Given the description of an element on the screen output the (x, y) to click on. 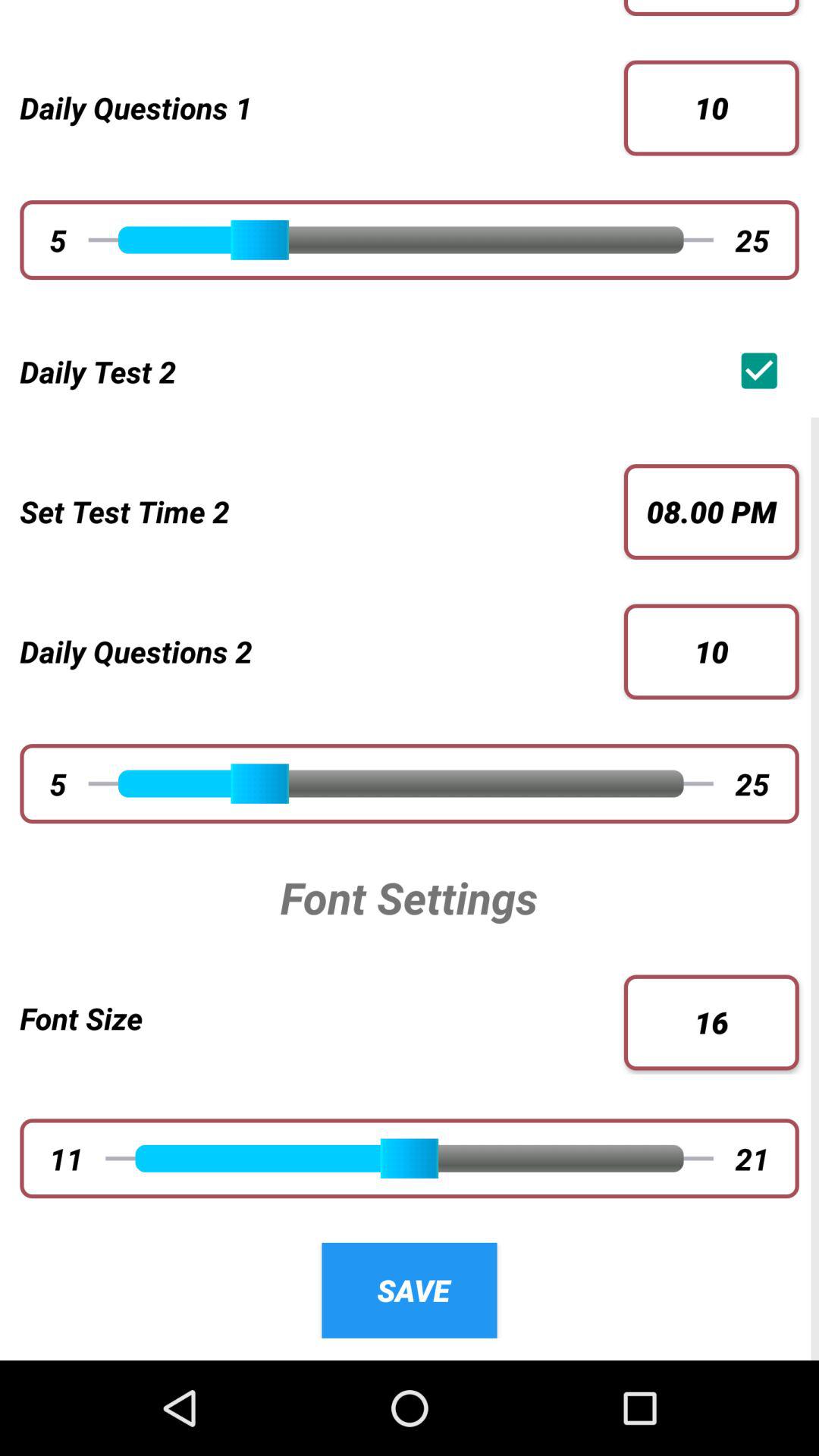
tap font size (321, 1018)
